Given the description of an element on the screen output the (x, y) to click on. 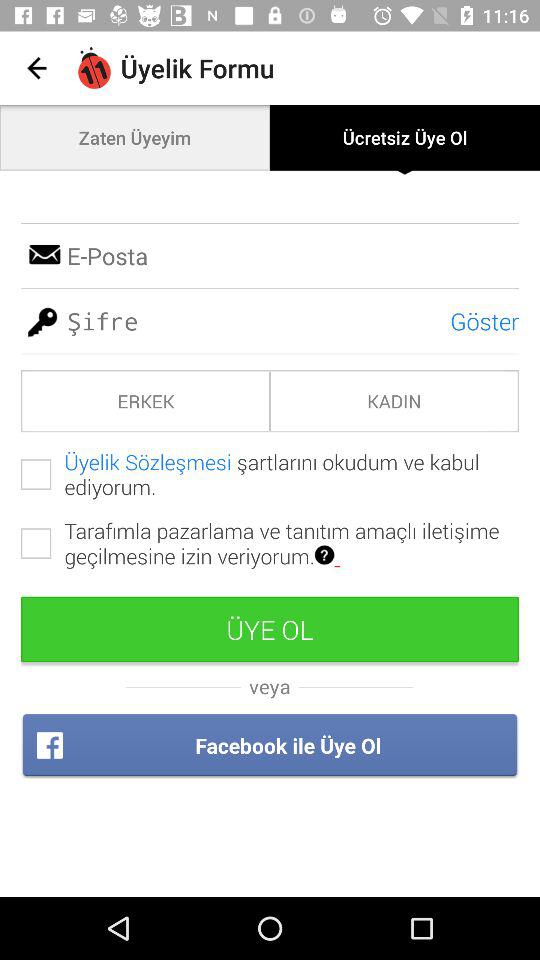
jump to erkek (145, 400)
